Given the description of an element on the screen output the (x, y) to click on. 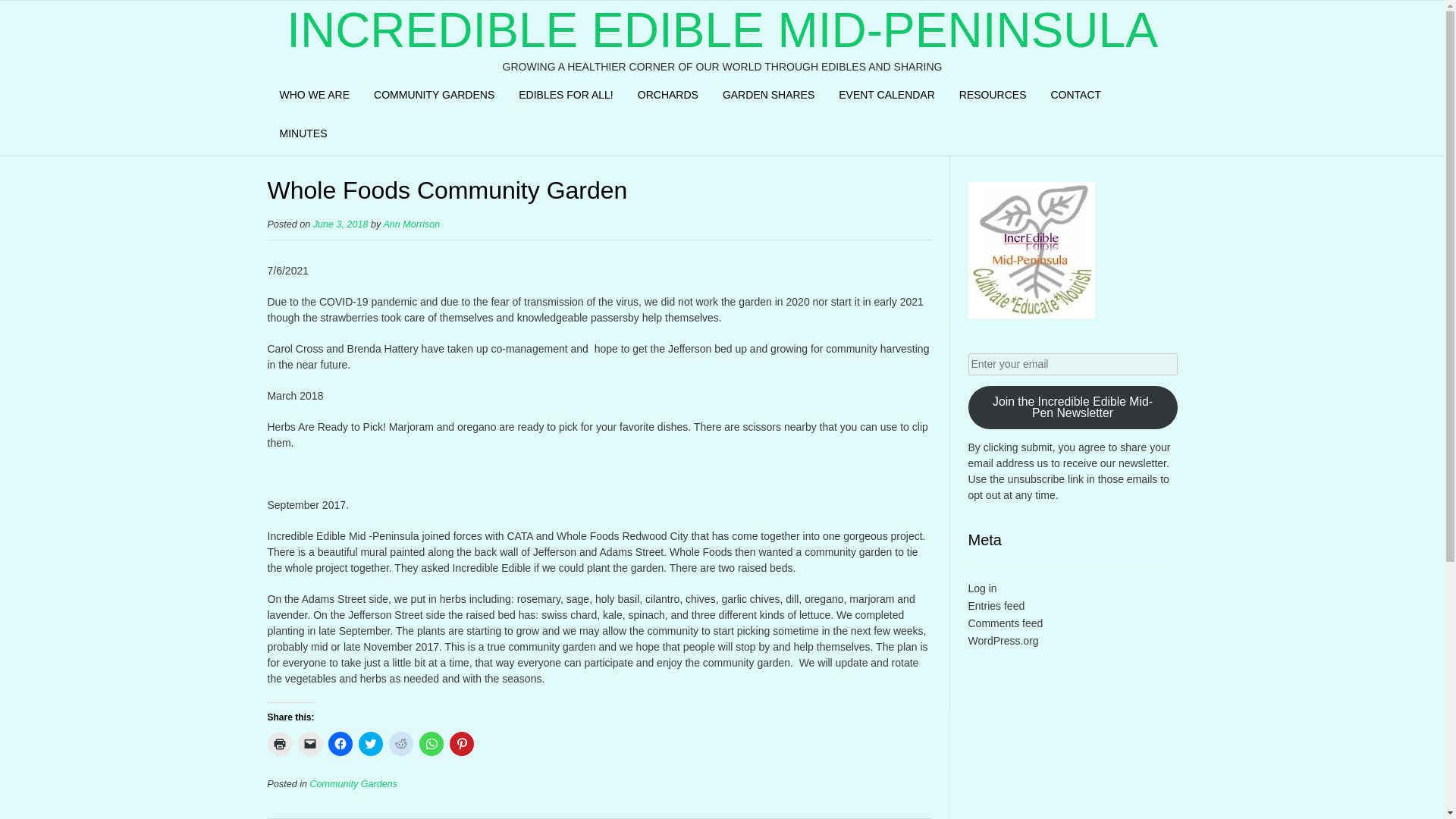
Log in (981, 588)
RESOURCES (993, 97)
Enter your email (1072, 363)
WordPress.org (1003, 639)
INCREDIBLE EDIBLE MID-PENINSULA (721, 29)
MINUTES (302, 136)
Join the Incredible Edible Mid-Pen Newsletter (1072, 407)
COMMUNITY GARDENS (433, 97)
Click to share on WhatsApp (430, 743)
Click to share on Reddit (400, 743)
